Given the description of an element on the screen output the (x, y) to click on. 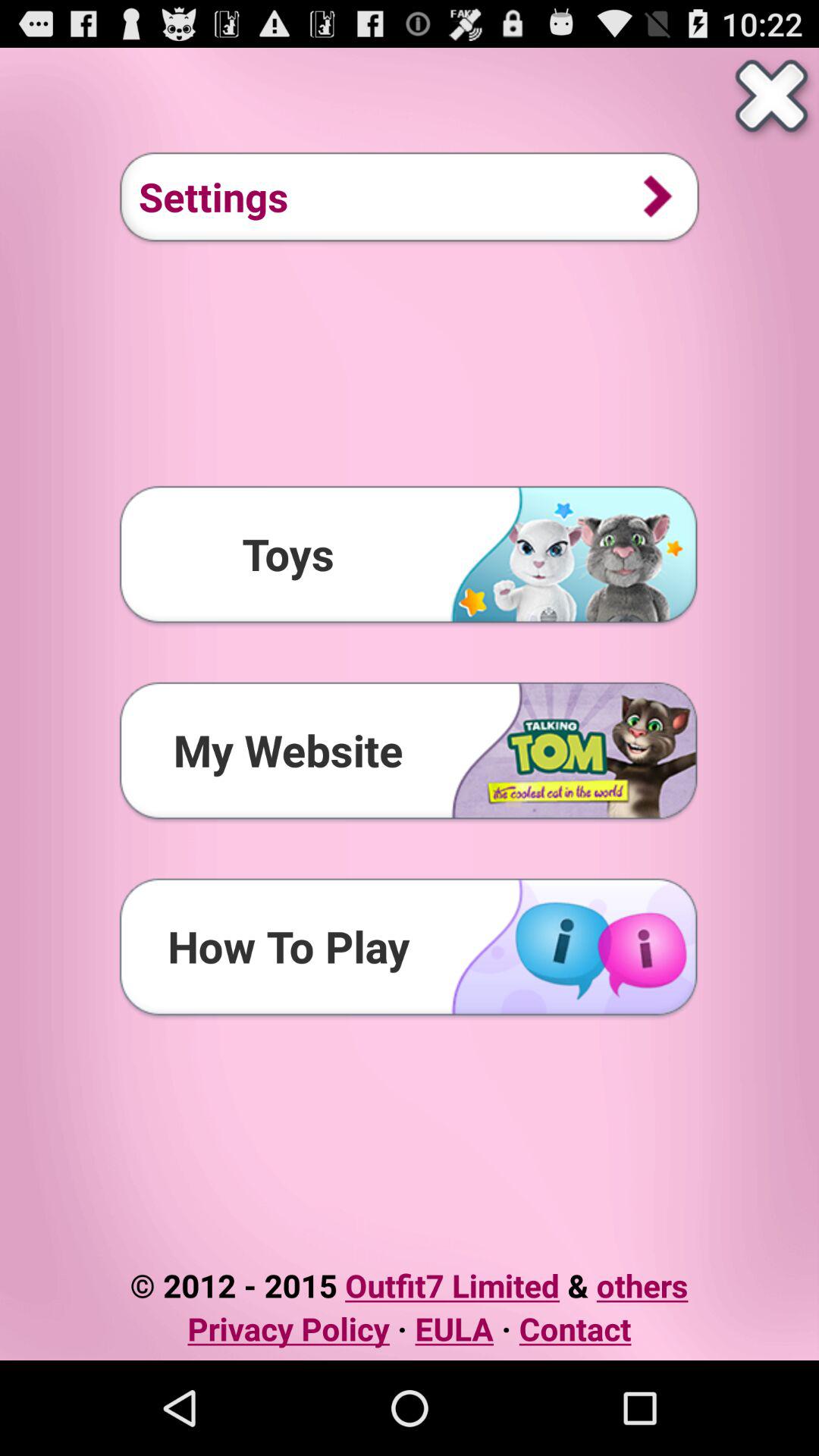
select icon above the privacy policy eula (409, 1284)
